Given the description of an element on the screen output the (x, y) to click on. 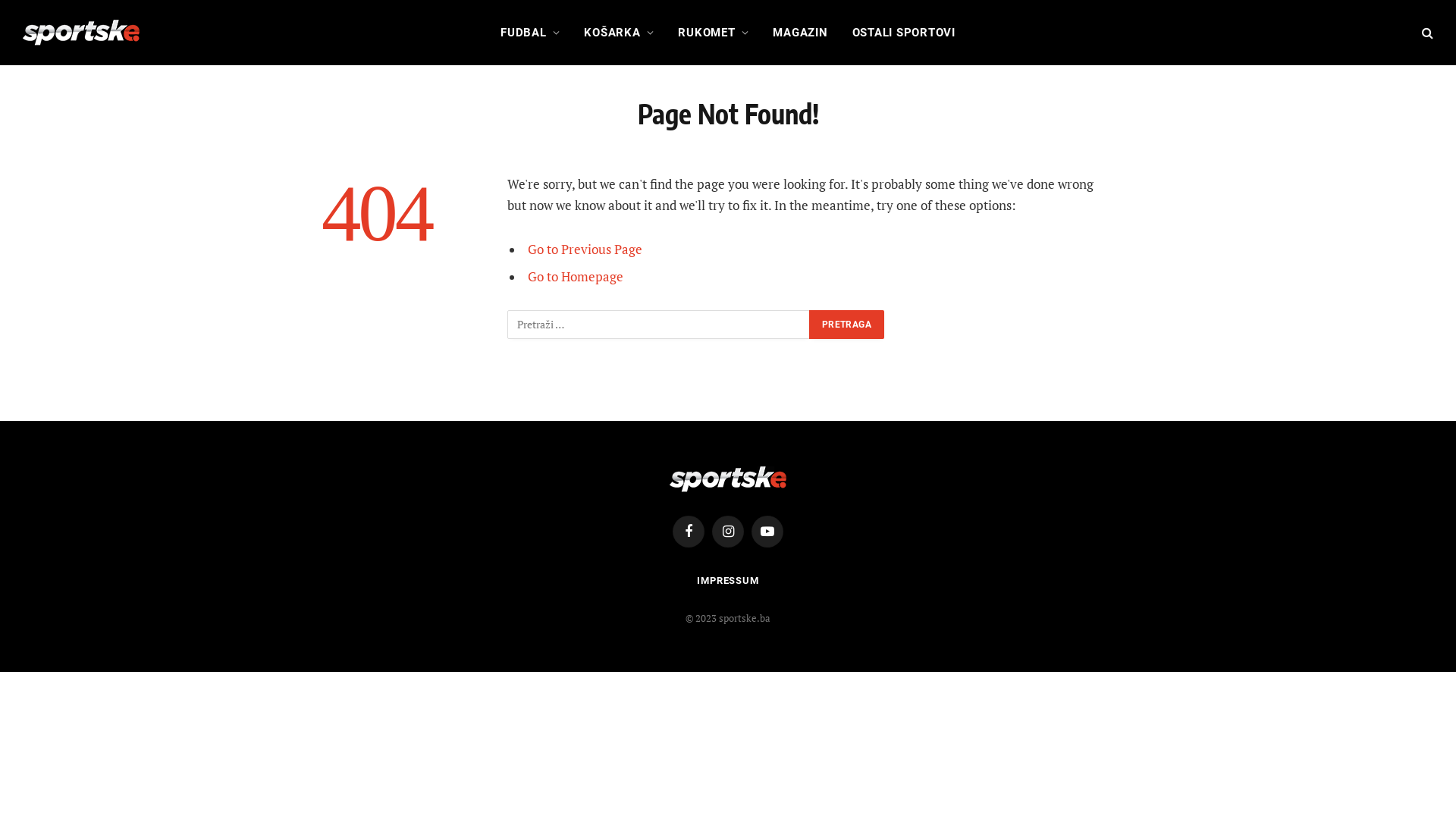
Sportske.ba Element type: hover (80, 32)
IMPRESSUM Element type: text (727, 580)
Facebook Element type: text (688, 531)
Search Element type: hover (1425, 32)
Go to Homepage Element type: text (575, 276)
Instagram Element type: text (727, 531)
YouTube Element type: text (767, 531)
Go to Previous Page Element type: text (584, 249)
Pretraga Element type: text (846, 324)
OSTALI SPORTOVI Element type: text (903, 32)
MAGAZIN Element type: text (799, 32)
RUKOMET Element type: text (712, 32)
FUDBAL Element type: text (529, 32)
